Given the description of an element on the screen output the (x, y) to click on. 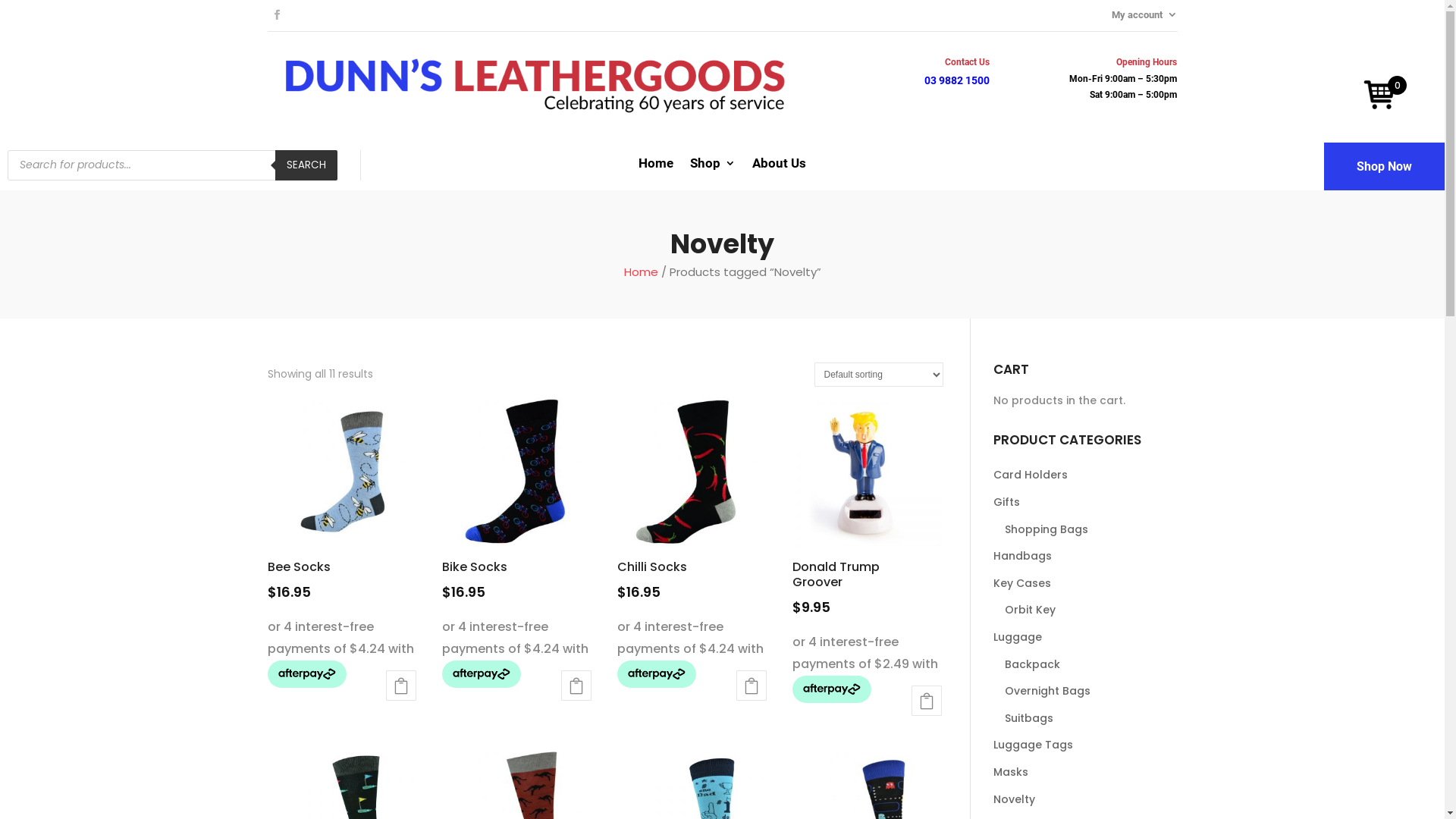
Select options Element type: text (751, 685)
Bike Socks
$16.95 Element type: text (516, 500)
Select options Element type: text (400, 685)
Shopping Bags Element type: text (1090, 529)
03 9882 1500 Element type: text (956, 80)
Bee Socks
$16.95 Element type: text (341, 500)
Suitbags Element type: text (1090, 718)
Card Holders Element type: text (1085, 475)
Orbit Key Element type: text (1090, 610)
Shop Now Element type: text (1384, 166)
Home Element type: text (655, 166)
Chilli Socks
$16.95 Element type: text (691, 500)
Follow on Facebook Element type: hover (276, 15)
Overnight Bags Element type: text (1090, 691)
Shop Element type: text (712, 166)
Home Element type: text (640, 271)
0 Element type: text (1380, 97)
About Us Element type: text (779, 166)
Luggage Element type: text (1085, 637)
dunns.logo2020 Element type: hover (534, 74)
Key Cases Element type: text (1085, 583)
Masks Element type: text (1085, 772)
Gifts Element type: text (1085, 502)
Luggage Tags Element type: text (1085, 745)
Handbags Element type: text (1085, 556)
SEARCH Element type: text (306, 165)
Backpack Element type: text (1090, 664)
Novelty Element type: text (1085, 799)
Add to cart Element type: text (926, 700)
My account Element type: text (1144, 17)
Donald Trump Groover
$9.95 Element type: text (866, 508)
Select options Element type: text (576, 685)
